Given the description of an element on the screen output the (x, y) to click on. 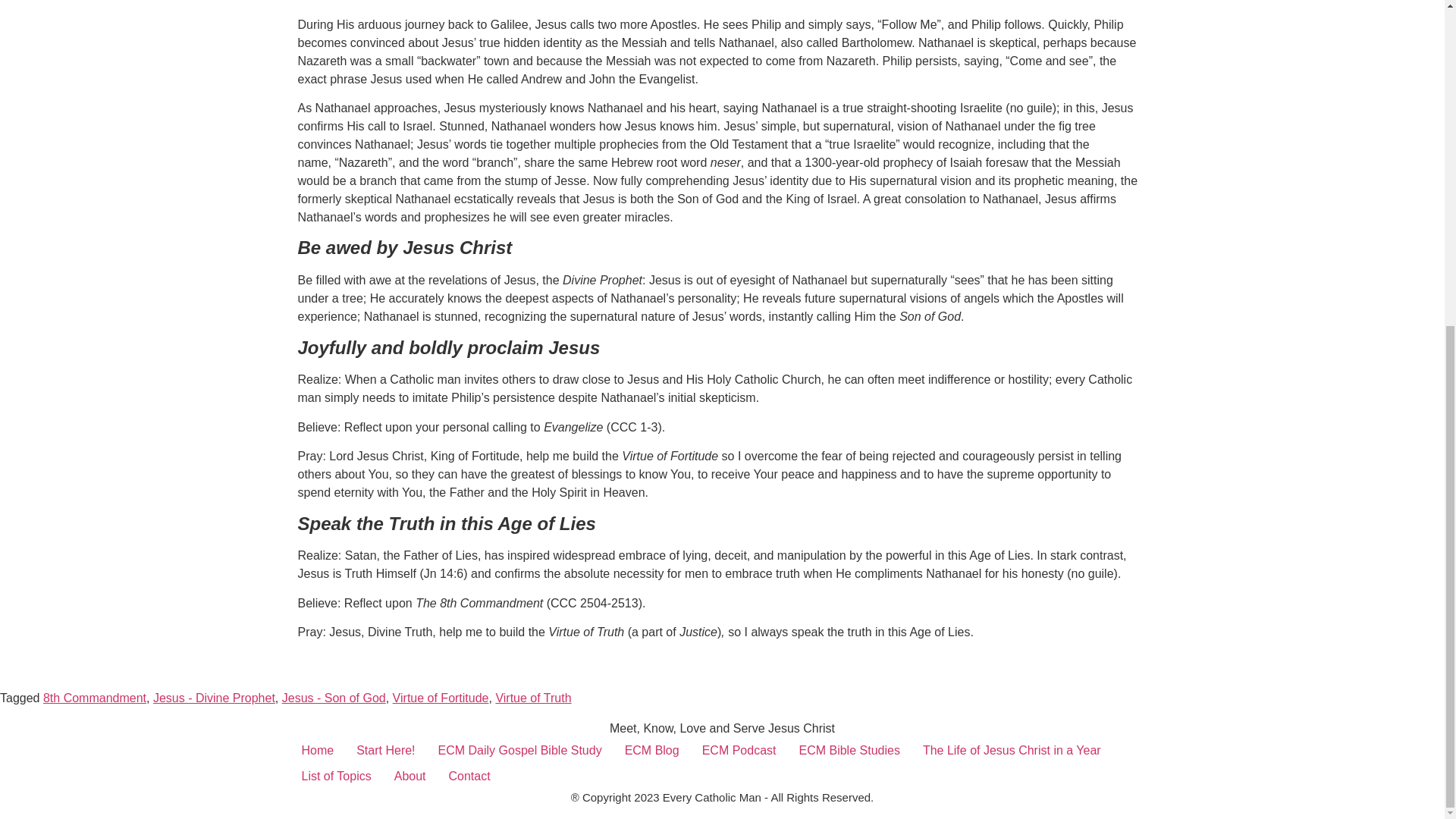
Virtue of Fortitude (441, 697)
Home (317, 750)
List of Topics (335, 776)
Contact (470, 776)
Start Here! (385, 750)
The Life of Jesus Christ in a Year (1011, 750)
Jesus - Divine Prophet (213, 697)
ECM Daily Gospel Bible Study (519, 750)
About (410, 776)
ECM Bible Studies (849, 750)
